Given the description of an element on the screen output the (x, y) to click on. 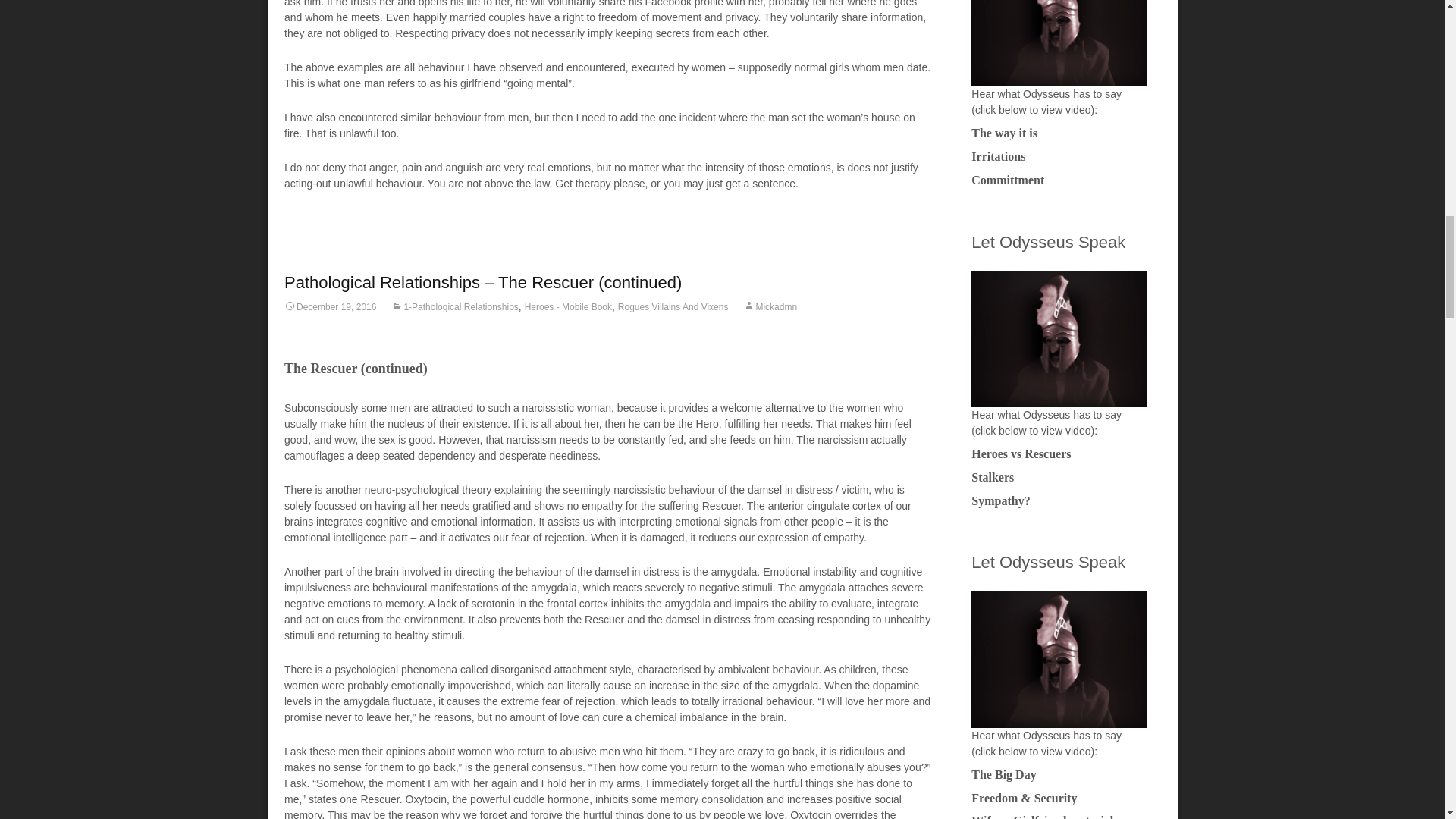
December 19, 2016 (329, 307)
Heroes - Mobile Book (567, 307)
View all posts by Mickadmn (769, 307)
1-Pathological Relationships (454, 307)
Rogues Villains And Vixens (673, 307)
Mickadmn (769, 307)
